Given the description of an element on the screen output the (x, y) to click on. 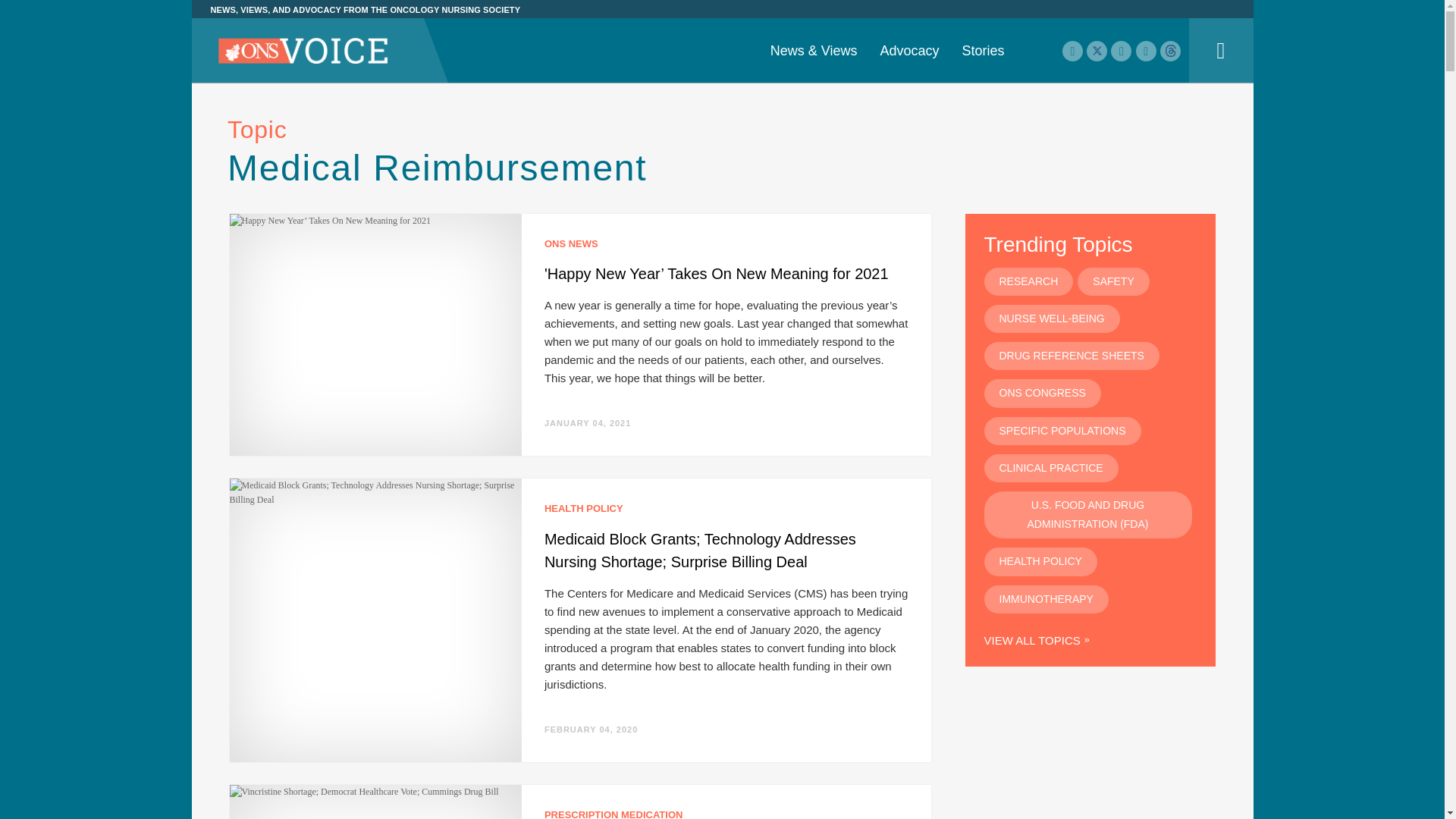
ONS CONGRESS (999, 2)
Advocacy (908, 50)
Stories (982, 50)
Home (302, 51)
Advocacy (908, 50)
GET INVOLVED (721, 37)
LATEST ARTICLES (466, 37)
Stories (982, 50)
